Given the description of an element on the screen output the (x, y) to click on. 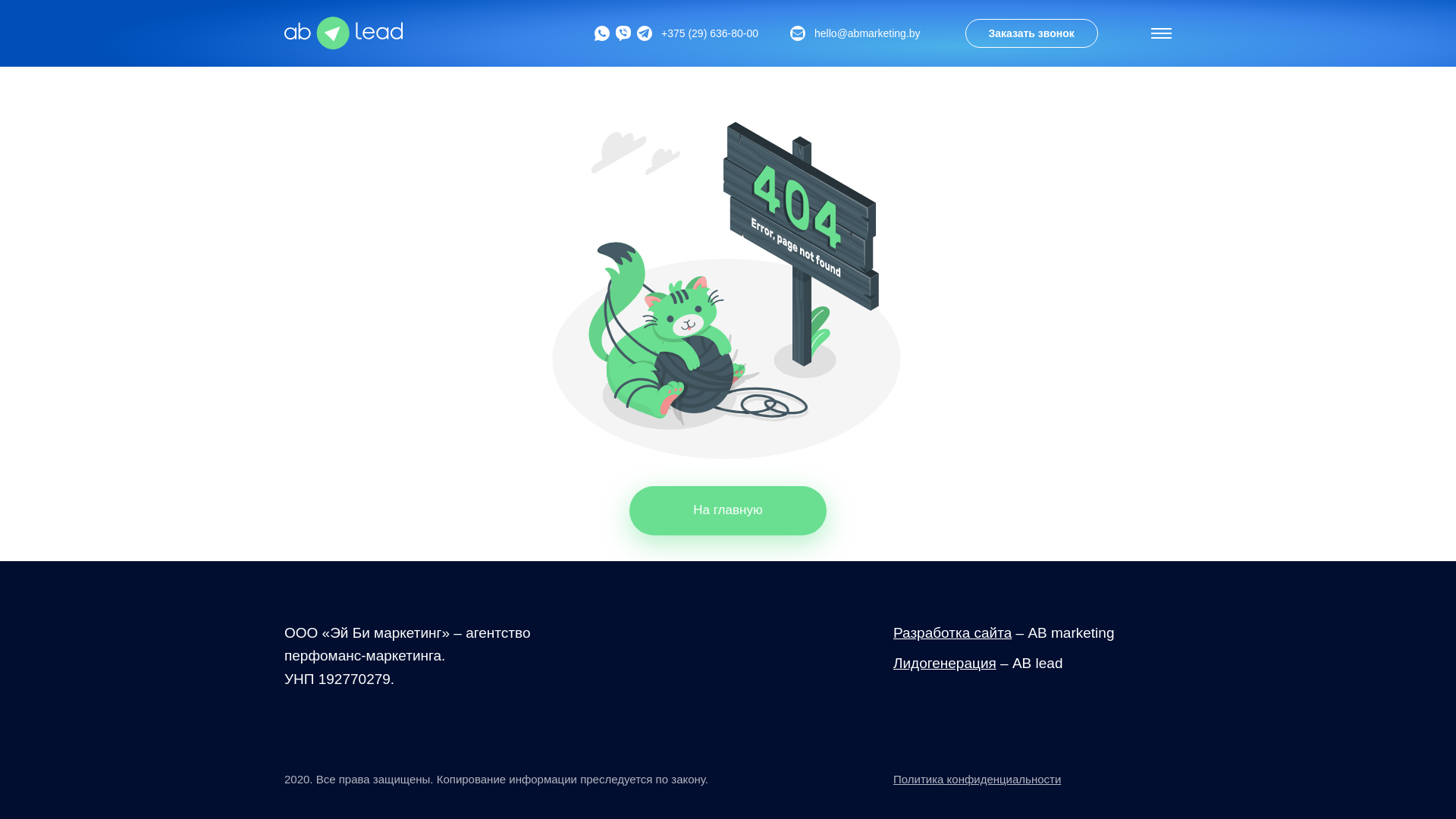
+375 (29) 636-80-00 Element type: text (709, 33)
hello@abmarketing.by Element type: text (854, 33)
